Given the description of an element on the screen output the (x, y) to click on. 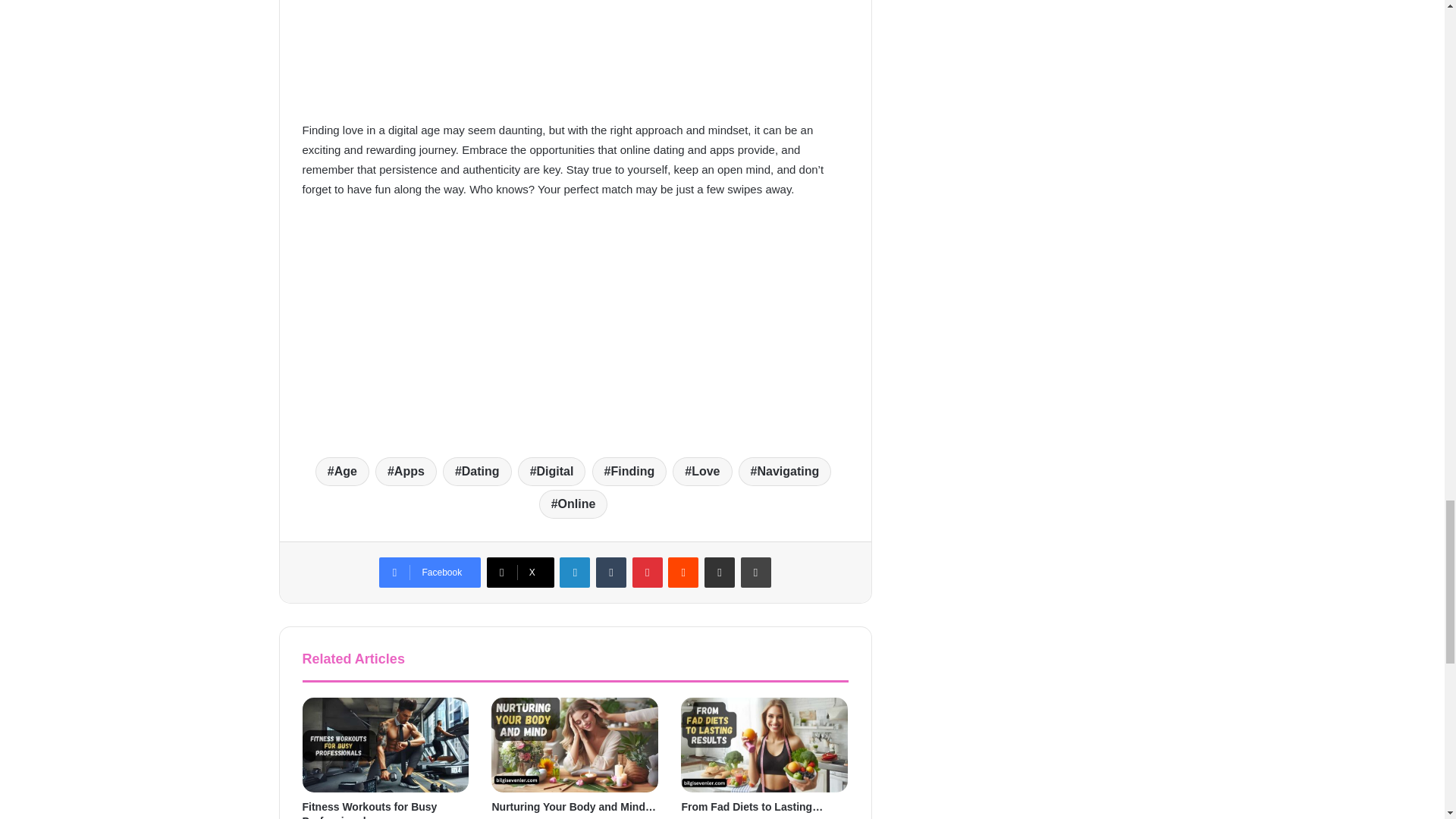
Navigating (784, 471)
Love (702, 471)
Apps (405, 471)
Advertisement (566, 58)
Dating (477, 471)
Online (573, 503)
X (520, 572)
Digital (552, 471)
Facebook (429, 572)
Advertisement (566, 324)
